Given the description of an element on the screen output the (x, y) to click on. 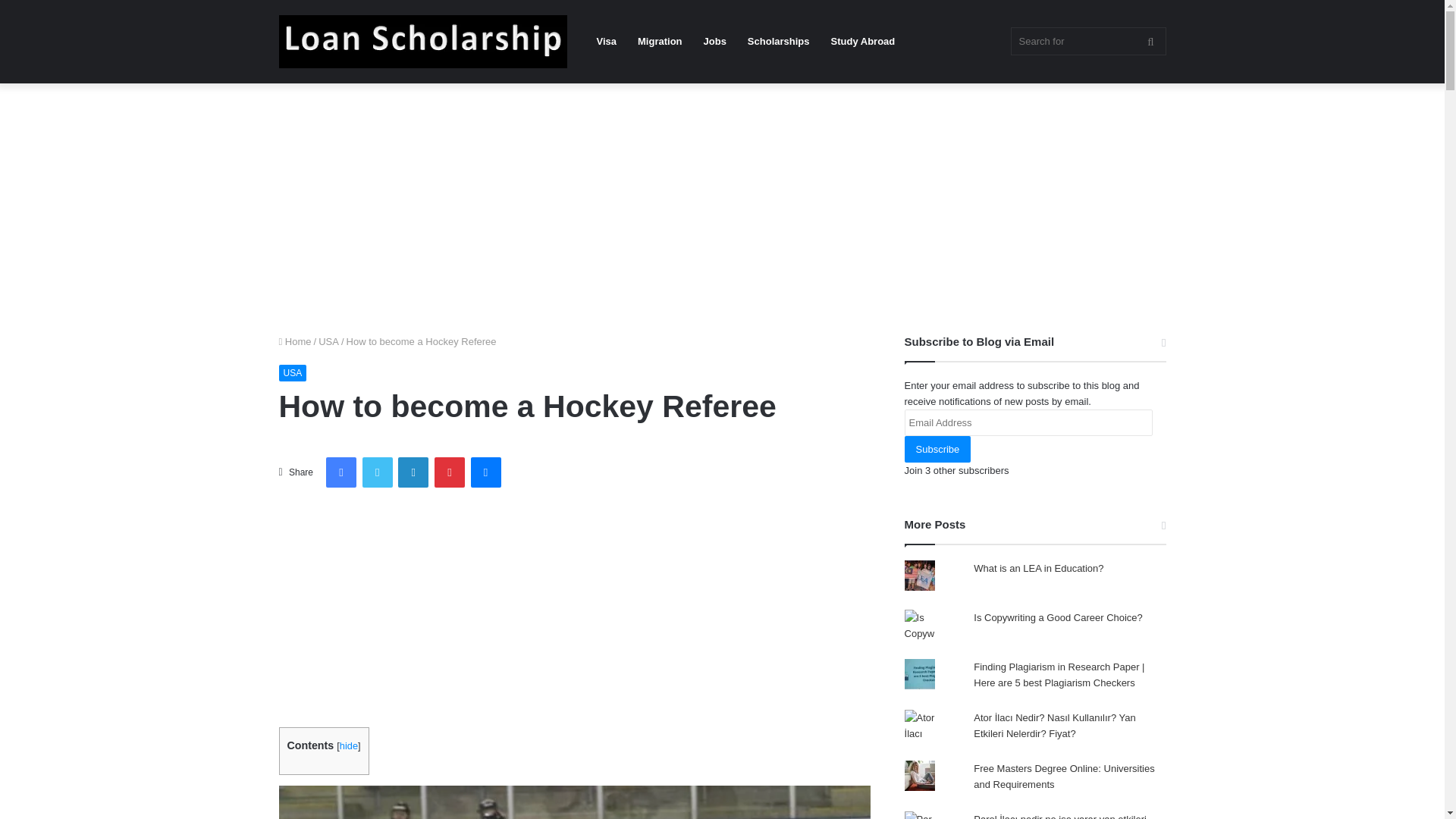
hide (348, 745)
Twitter (377, 472)
USA (293, 372)
LinkedIn (412, 472)
Facebook (341, 472)
Loan Scholarship (423, 41)
USA (328, 341)
Messenger (485, 472)
Study Abroad (863, 41)
Home (295, 341)
